Given the description of an element on the screen output the (x, y) to click on. 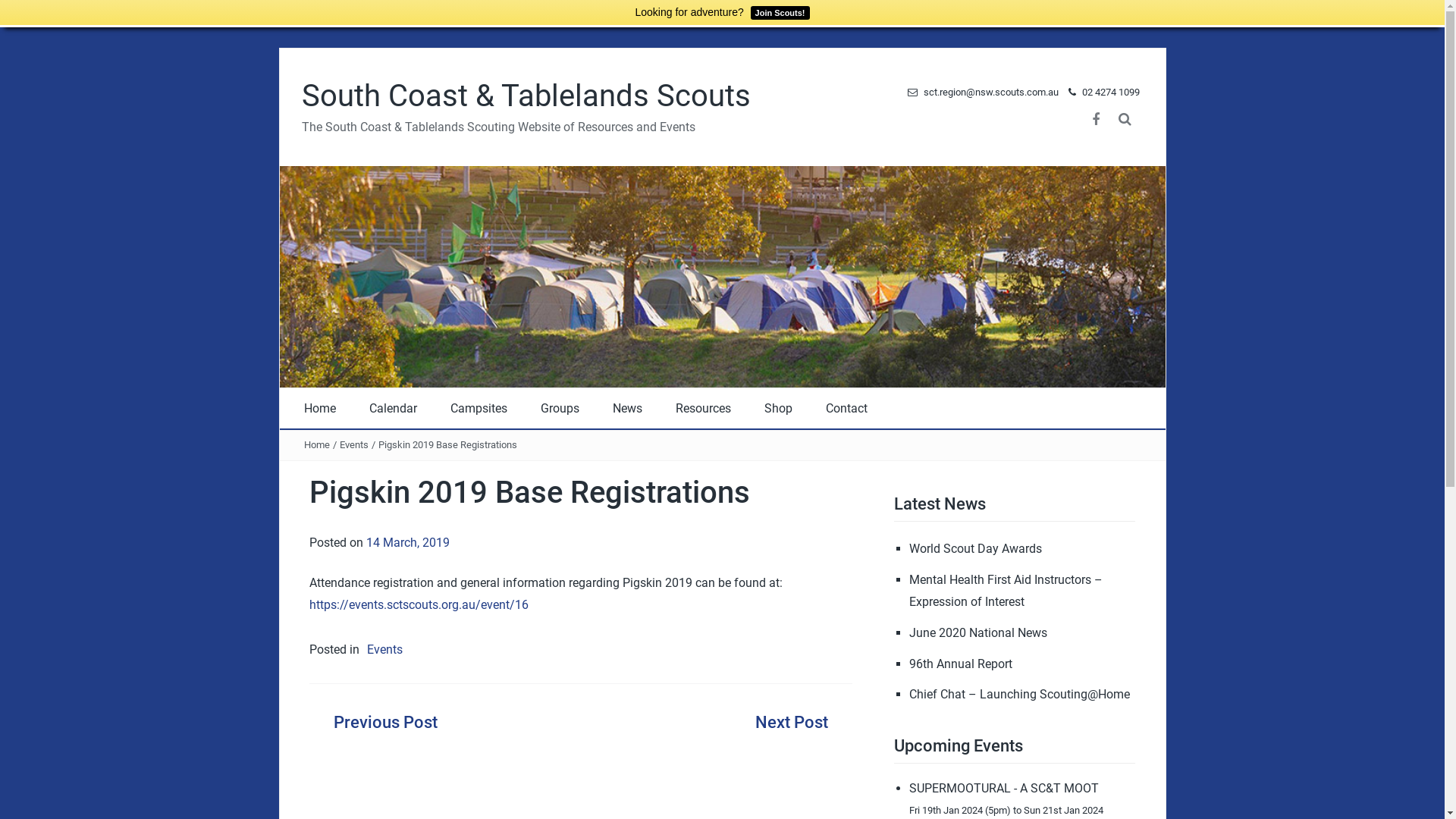
Shop Element type: text (778, 408)
Home Element type: text (316, 444)
World Scout Day Awards Element type: text (975, 548)
Calendar Element type: text (392, 408)
South Coast & Tablelands Scouts Element type: hover (721, 275)
Groups Element type: text (558, 408)
96th Annual Report Element type: text (960, 663)
South Coast & Tablelands Scouts Element type: text (525, 95)
Campsites Element type: text (478, 408)
Events Element type: text (382, 649)
News Element type: text (627, 408)
Join Scouts! Element type: text (777, 12)
Events Element type: text (353, 444)
14 March, 2019 Element type: text (406, 542)
Upcoming Events Element type: text (958, 745)
Contact Element type: text (845, 408)
Home Element type: text (319, 408)
https://events.sctscouts.org.au/event/16 Element type: text (418, 604)
Resources Element type: text (702, 408)
June 2020 National News Element type: text (978, 632)
SUPERMOOTURAL - A SC&T MOOT Element type: text (1003, 788)
